Given the description of an element on the screen output the (x, y) to click on. 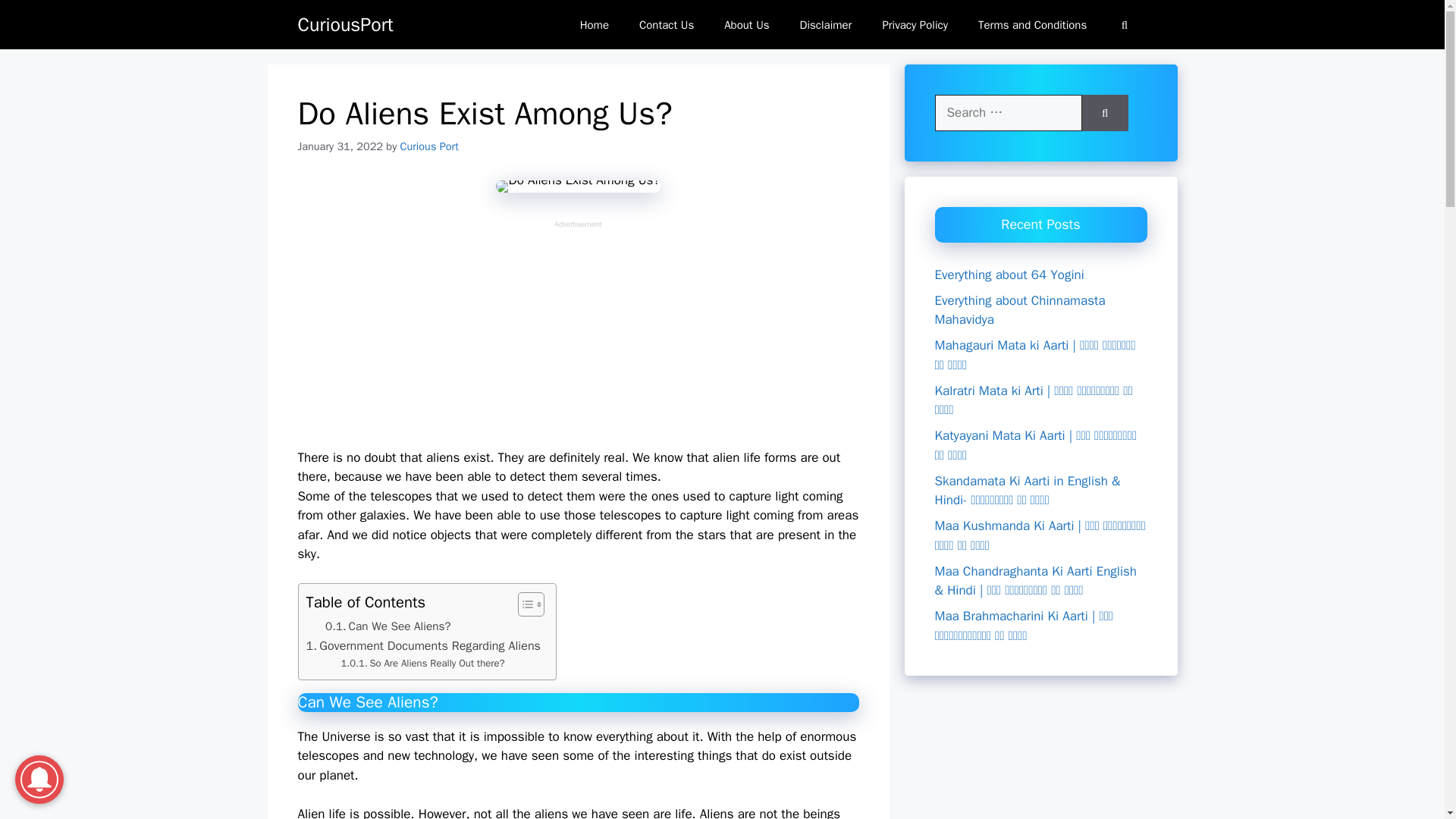
CuriousPort (345, 24)
Everything about Chinnamasta Mahavidya (1019, 310)
View all posts by Curious Port (429, 146)
Government Documents Regarding Aliens (422, 646)
So Are Aliens Really Out there? (422, 663)
So Are Aliens Really Out there? (422, 663)
Terms and Conditions (1032, 23)
Can We See Aliens? (387, 626)
Home (594, 23)
Disclaimer (825, 23)
Can We See Aliens? (387, 626)
Government Documents Regarding Aliens (422, 646)
About Us (746, 23)
Advertisement (578, 336)
Everything about 64 Yogini (1008, 274)
